Given the description of an element on the screen output the (x, y) to click on. 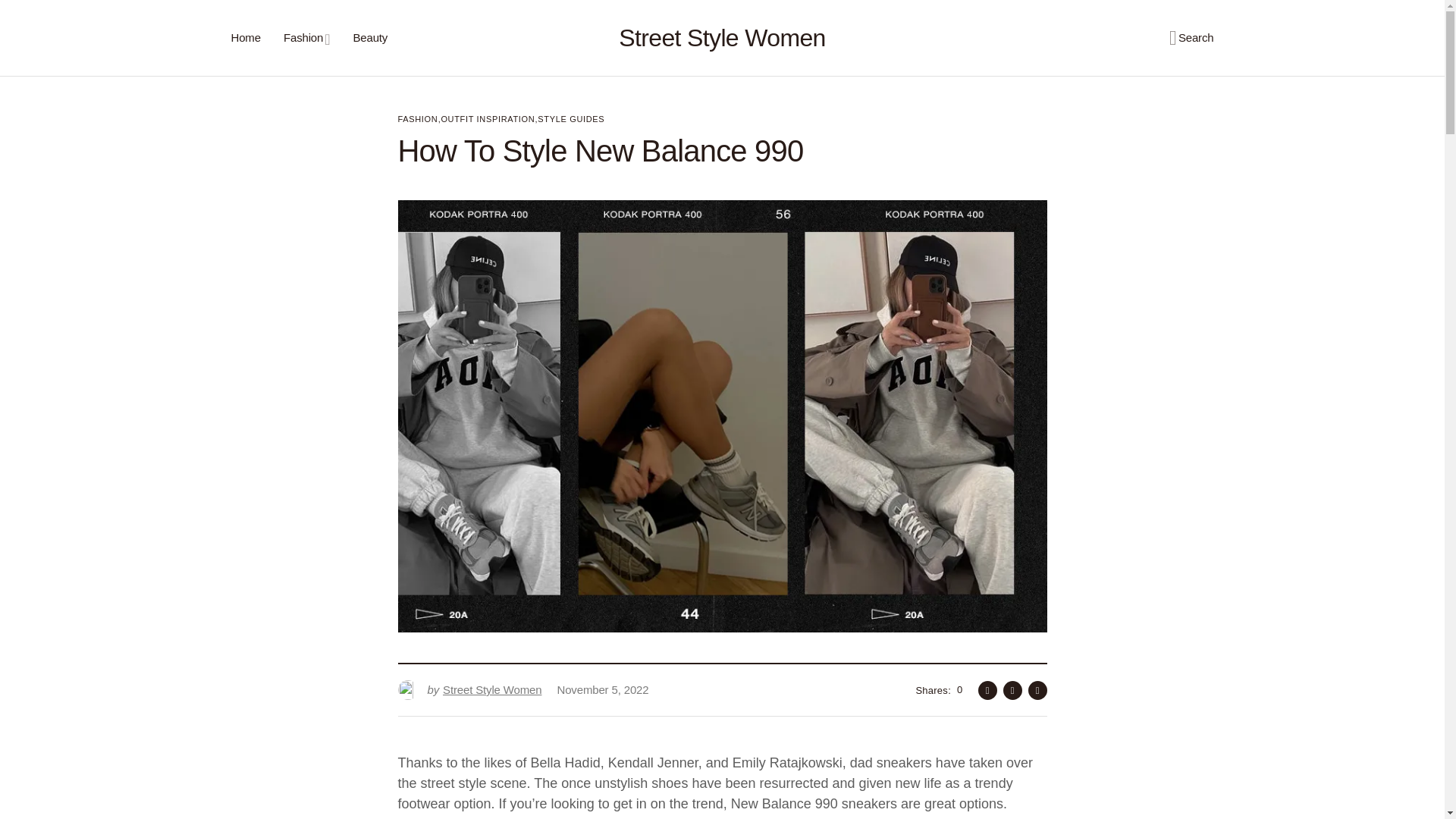
STYLE GUIDES (570, 118)
Street Style Women (721, 37)
OUTFIT INSPIRATION (469, 689)
View all posts by Street Style Women (487, 118)
FASHION (469, 689)
